Given the description of an element on the screen output the (x, y) to click on. 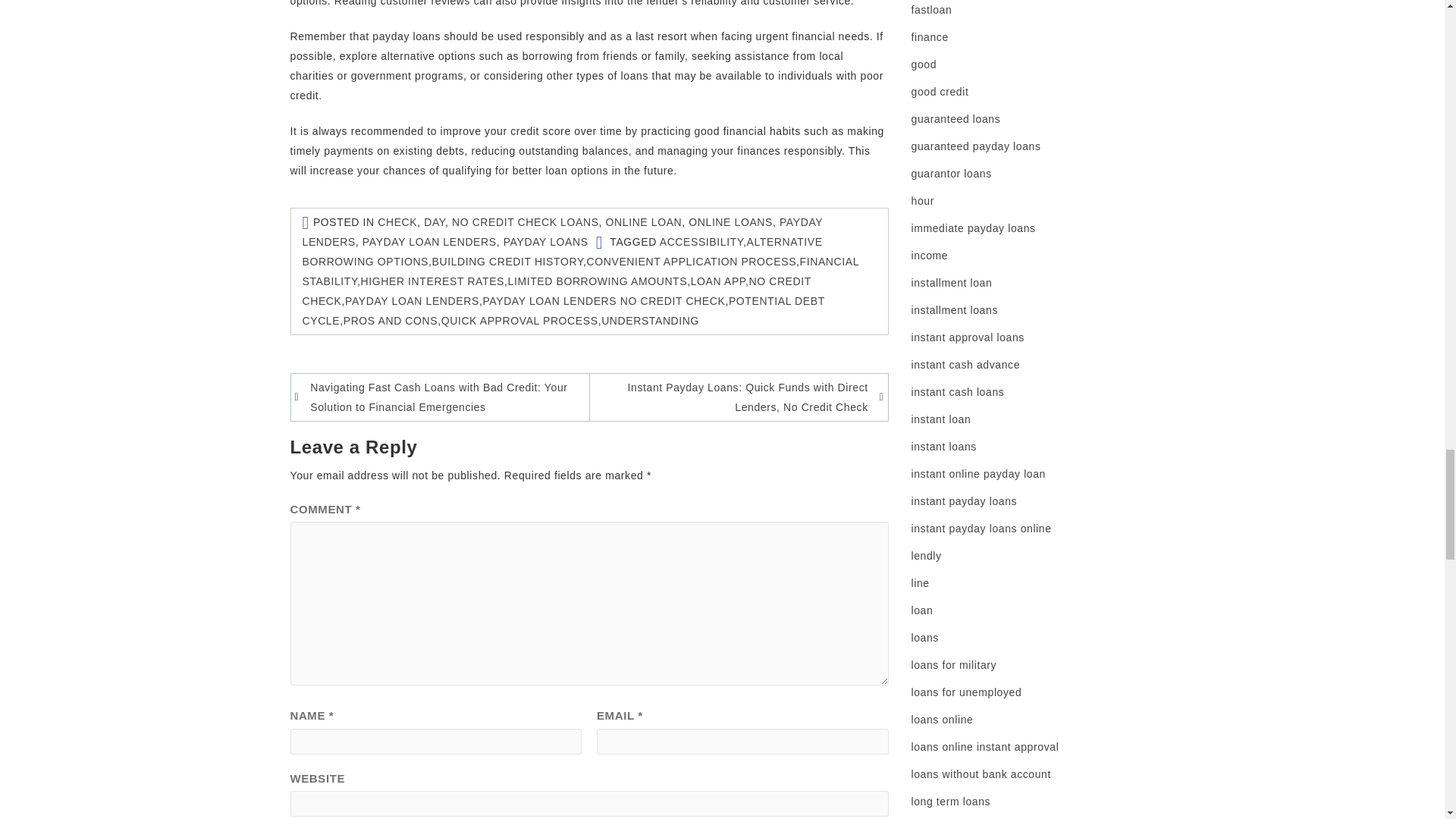
DAY (434, 222)
CONVENIENT APPLICATION PROCESS (691, 261)
HIGHER INTEREST RATES (432, 281)
ONLINE LOANS (730, 222)
PAYDAY LOANS (545, 241)
NO CREDIT CHECK (555, 291)
ACCESSIBILITY (700, 241)
LIMITED BORROWING AMOUNTS (597, 281)
ALTERNATIVE BORROWING OPTIONS (561, 251)
BUILDING CREDIT HISTORY (507, 261)
